Given the description of an element on the screen output the (x, y) to click on. 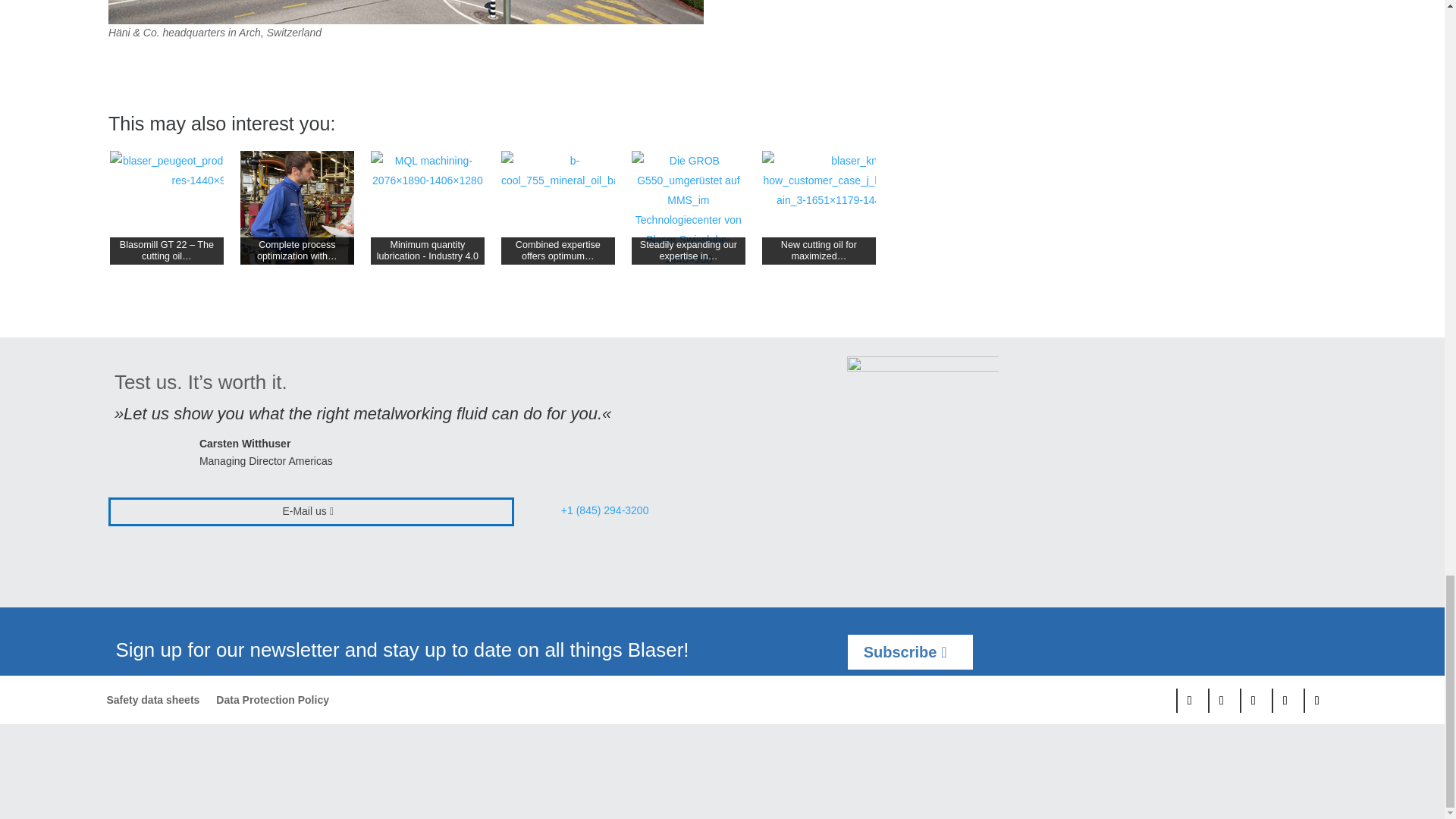
Minimum quantity lubrication - Industry 4.0 (427, 207)
Safety data sheets (152, 702)
Subscribe (909, 651)
E-Mail us (311, 511)
Combined expertise offers optimum process security (568, 170)
Minimum quantity lubrication - Industry 4.0 (427, 170)
